Given the description of an element on the screen output the (x, y) to click on. 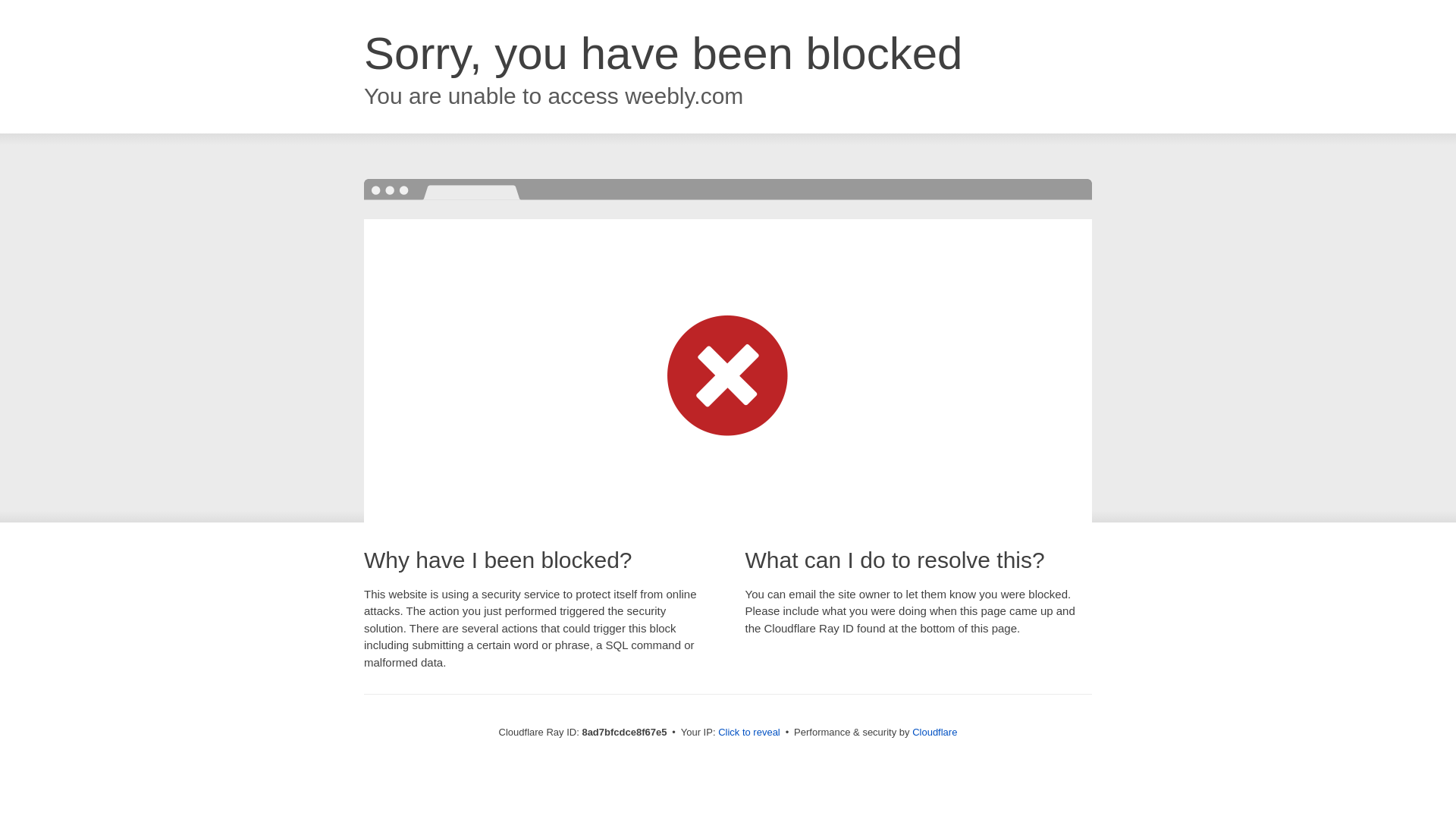
Click to reveal (748, 732)
Cloudflare (934, 731)
